Given the description of an element on the screen output the (x, y) to click on. 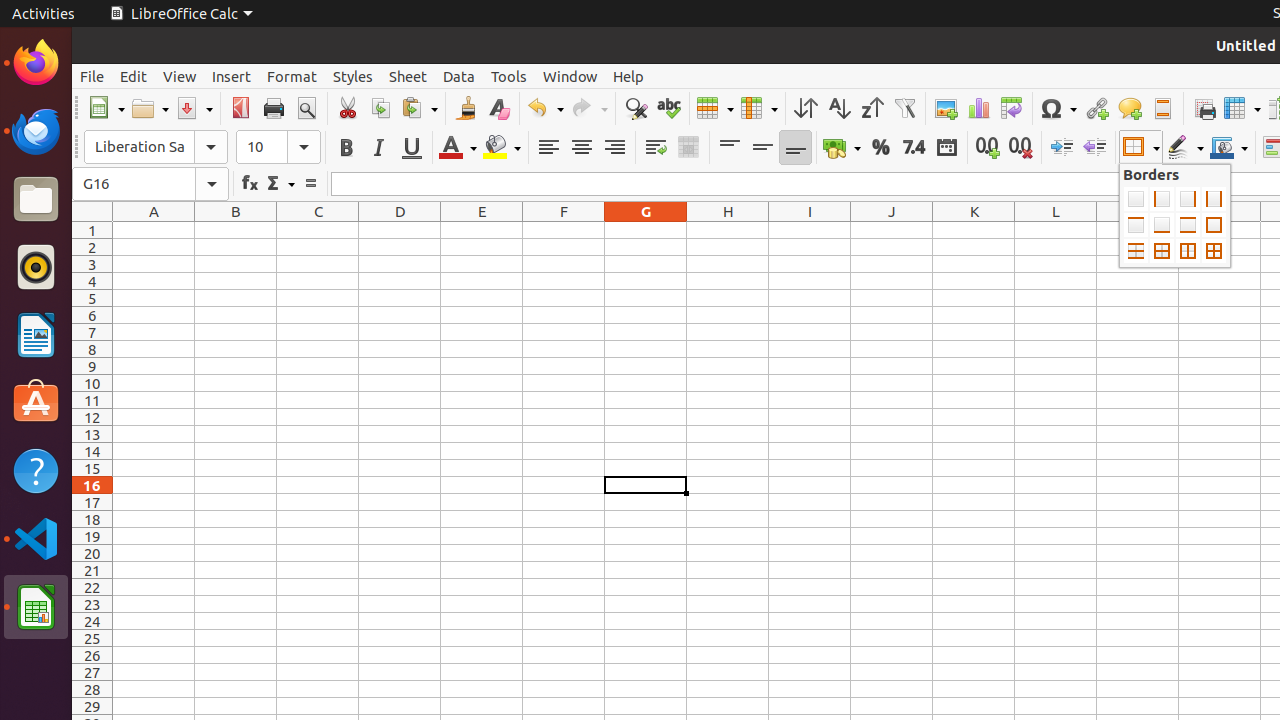
AutoFilter Element type: push-button (904, 108)
Find & Replace Element type: toggle-button (635, 108)
G1 Element type: table-cell (646, 230)
Copy Element type: push-button (380, 108)
Spelling Element type: push-button (668, 108)
